Given the description of an element on the screen output the (x, y) to click on. 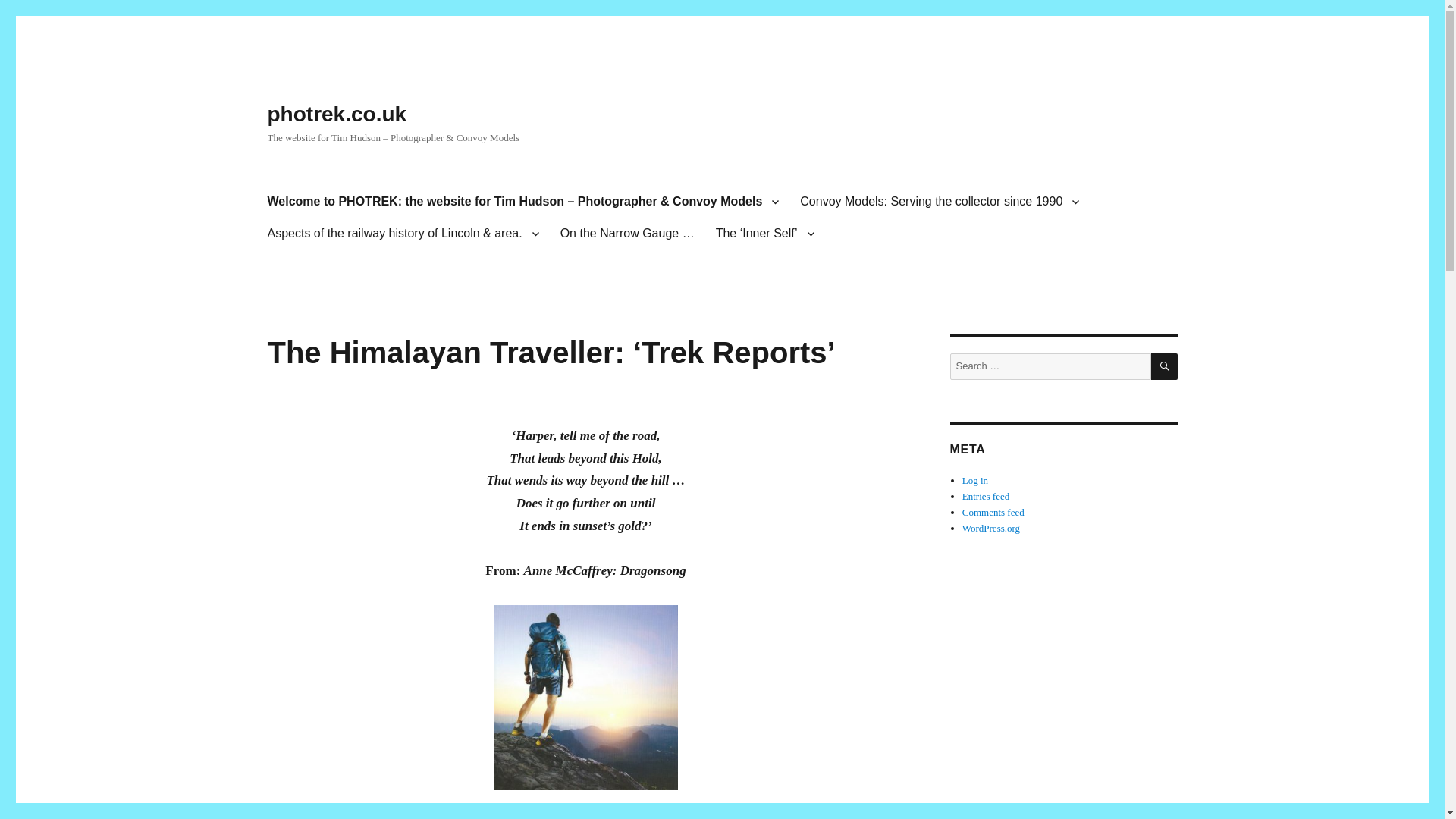
Convoy Models: Serving the collector since 1990 (939, 201)
photrek.co.uk (336, 114)
